Given the description of an element on the screen output the (x, y) to click on. 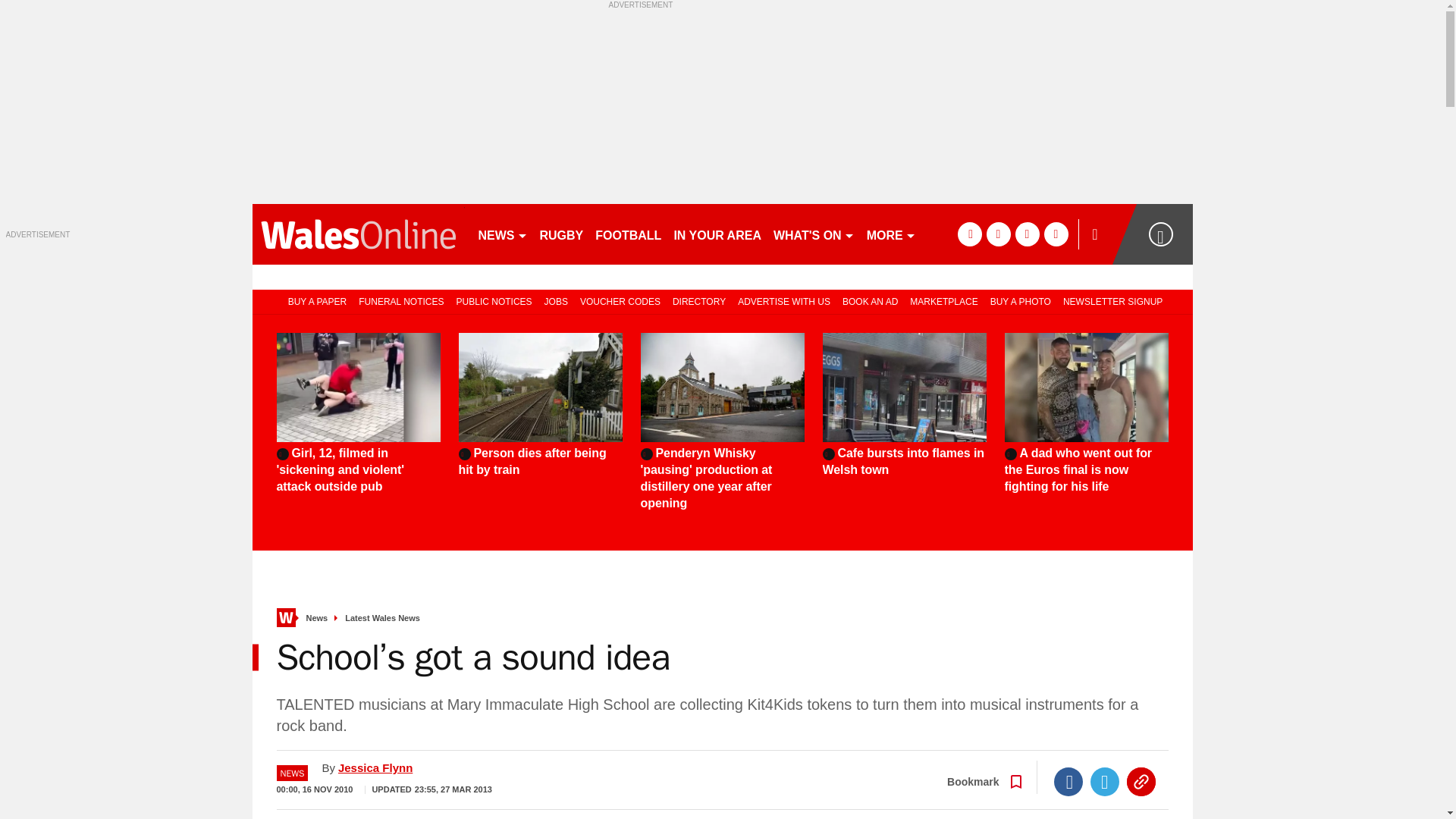
FOOTBALL (627, 233)
Facebook (1068, 781)
twitter (997, 233)
facebook (968, 233)
3rd party ad content (118, 333)
3rd party ad content (721, 103)
WHAT'S ON (813, 233)
instagram (1055, 233)
Twitter (1104, 781)
pinterest (1026, 233)
MORE (890, 233)
NEWS (501, 233)
walesonline (357, 233)
RUGBY (561, 233)
